Given the description of an element on the screen output the (x, y) to click on. 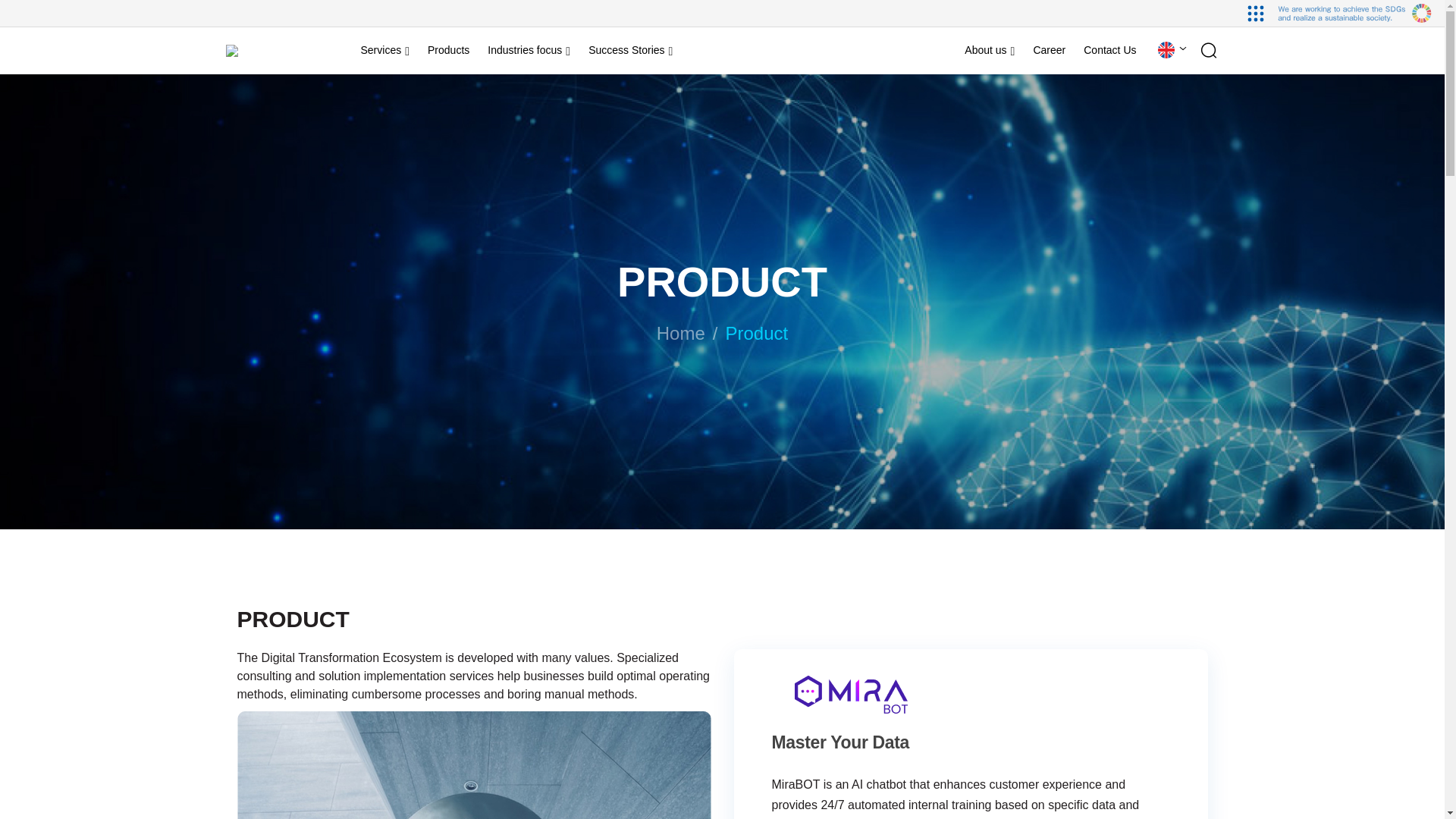
Services (385, 50)
